Given the description of an element on the screen output the (x, y) to click on. 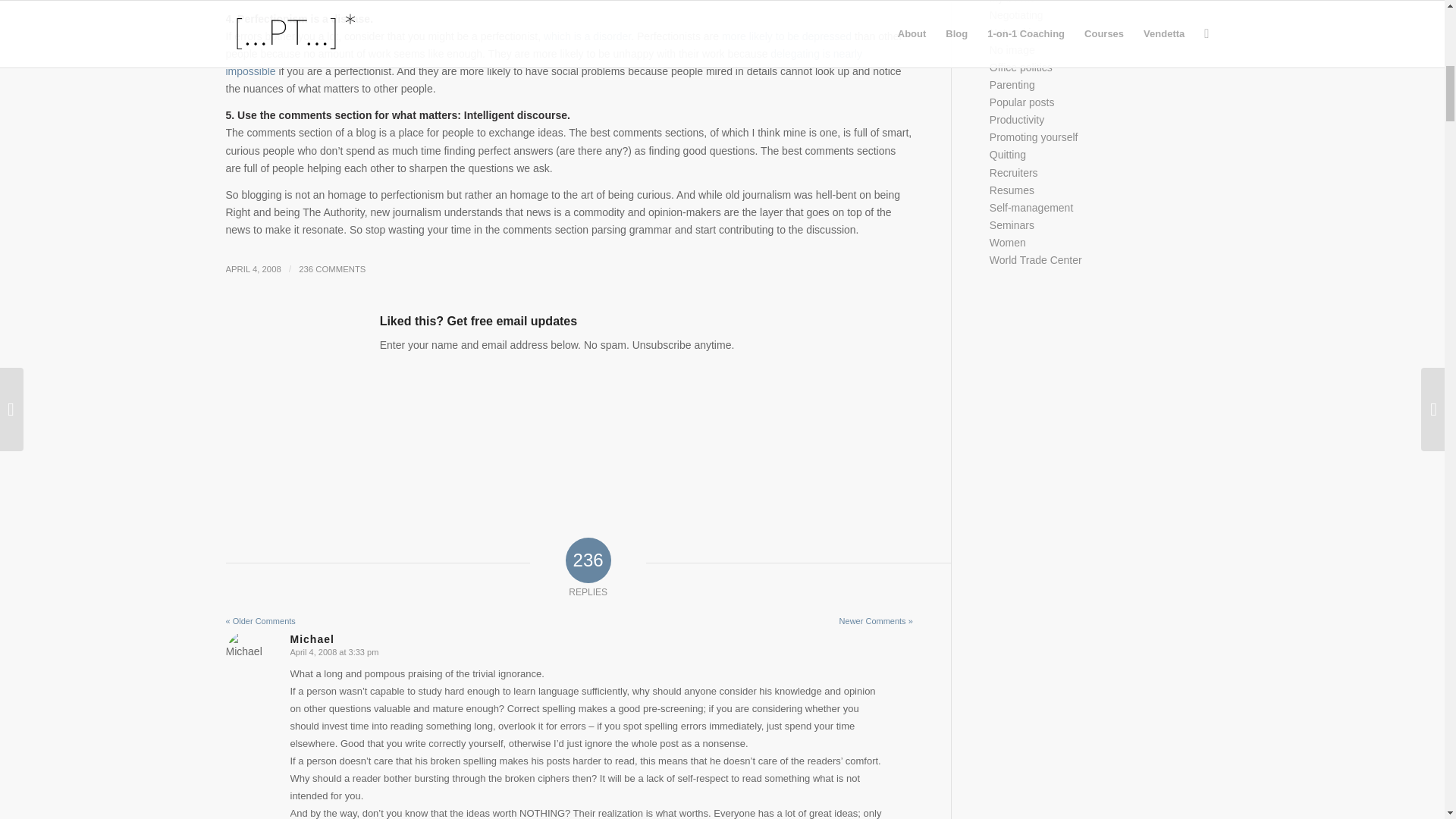
236 COMMENTS (331, 268)
April 4, 2008 at 3:33 pm (333, 651)
which is a disorder (586, 36)
more likely to be depressed (786, 36)
Form 0 (569, 434)
delegating is nearly impossible (543, 61)
